Given the description of an element on the screen output the (x, y) to click on. 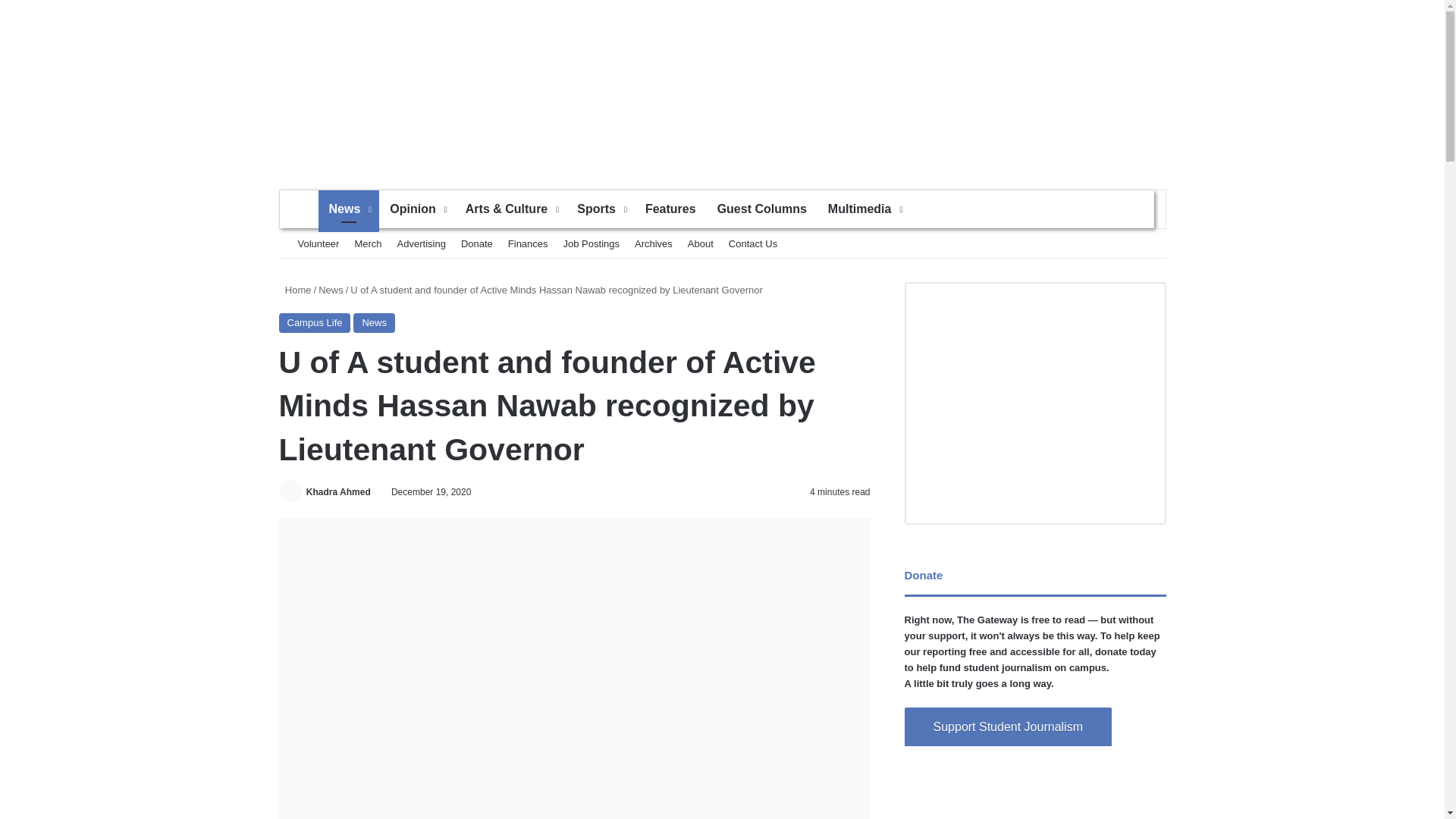
News (349, 209)
Opinion (416, 209)
Sports (600, 209)
Multimedia (863, 209)
Features (670, 209)
Guest Columns (761, 209)
The Gateway (722, 85)
Khadra Ahmed (338, 491)
